Given the description of an element on the screen output the (x, y) to click on. 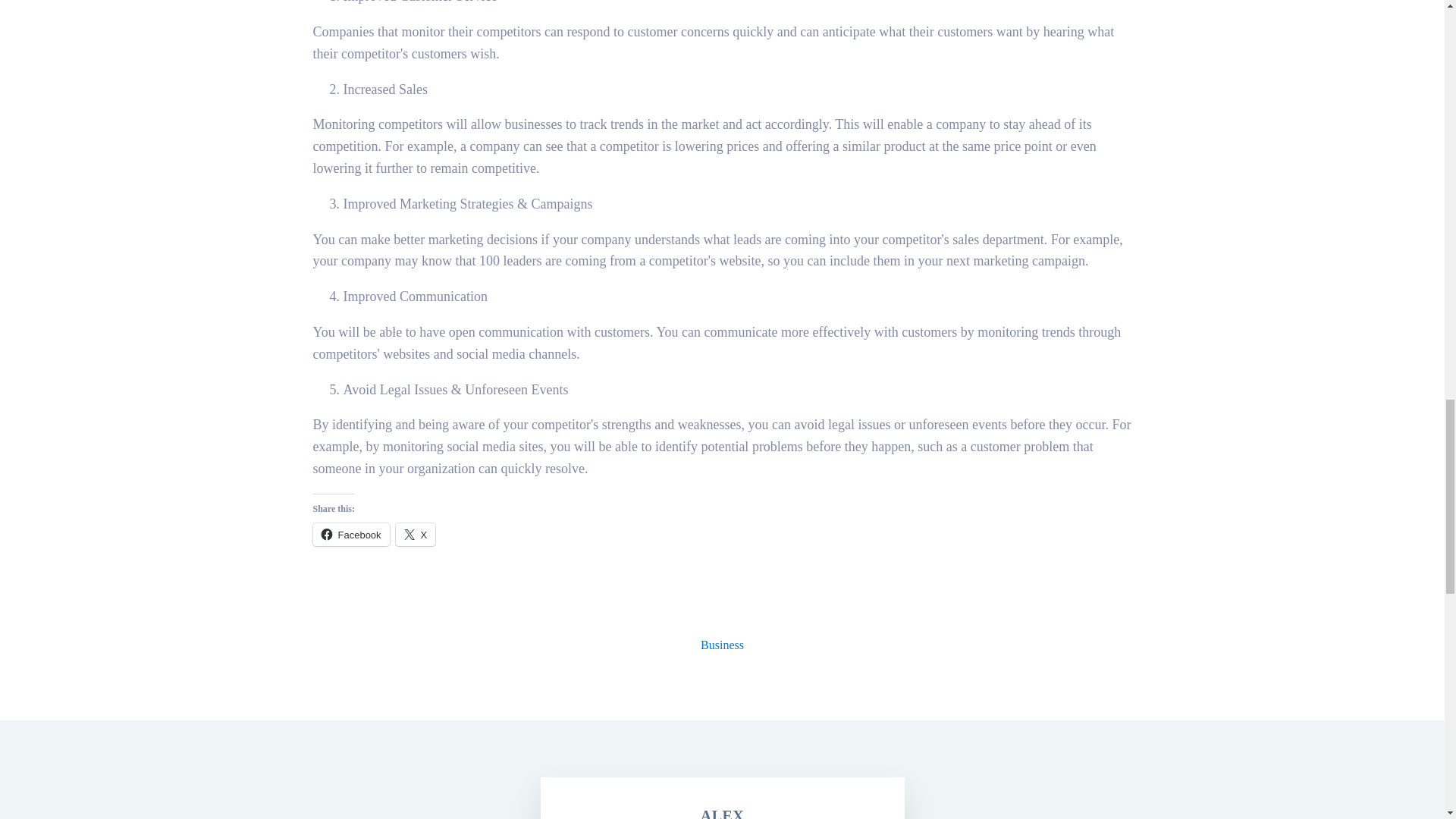
Facebook (350, 534)
ALEX (722, 809)
Click to share on Facebook (350, 534)
X (415, 534)
Click to share on X (415, 534)
Business (722, 644)
